Given the description of an element on the screen output the (x, y) to click on. 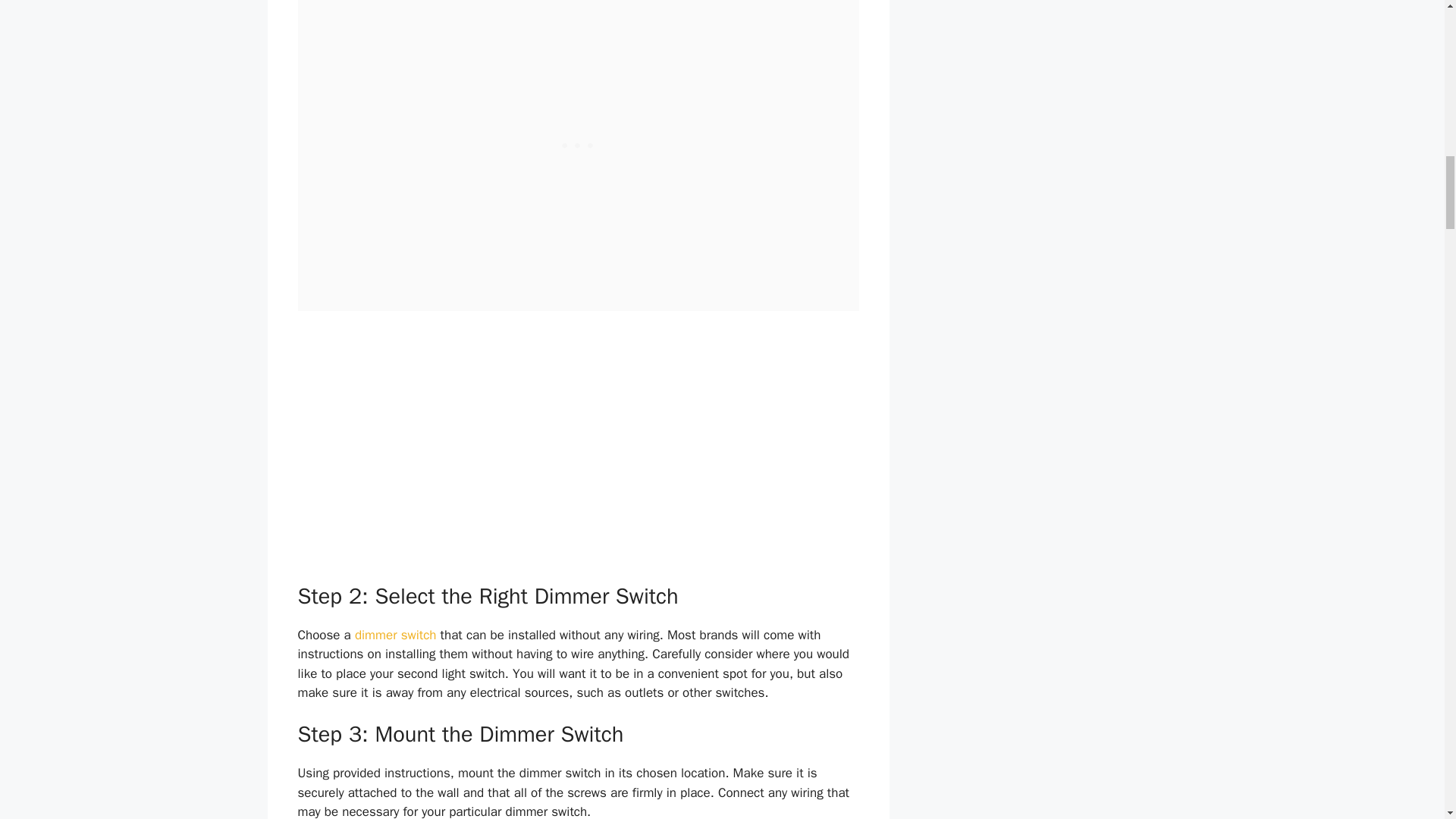
dimmer switch (395, 634)
